Given the description of an element on the screen output the (x, y) to click on. 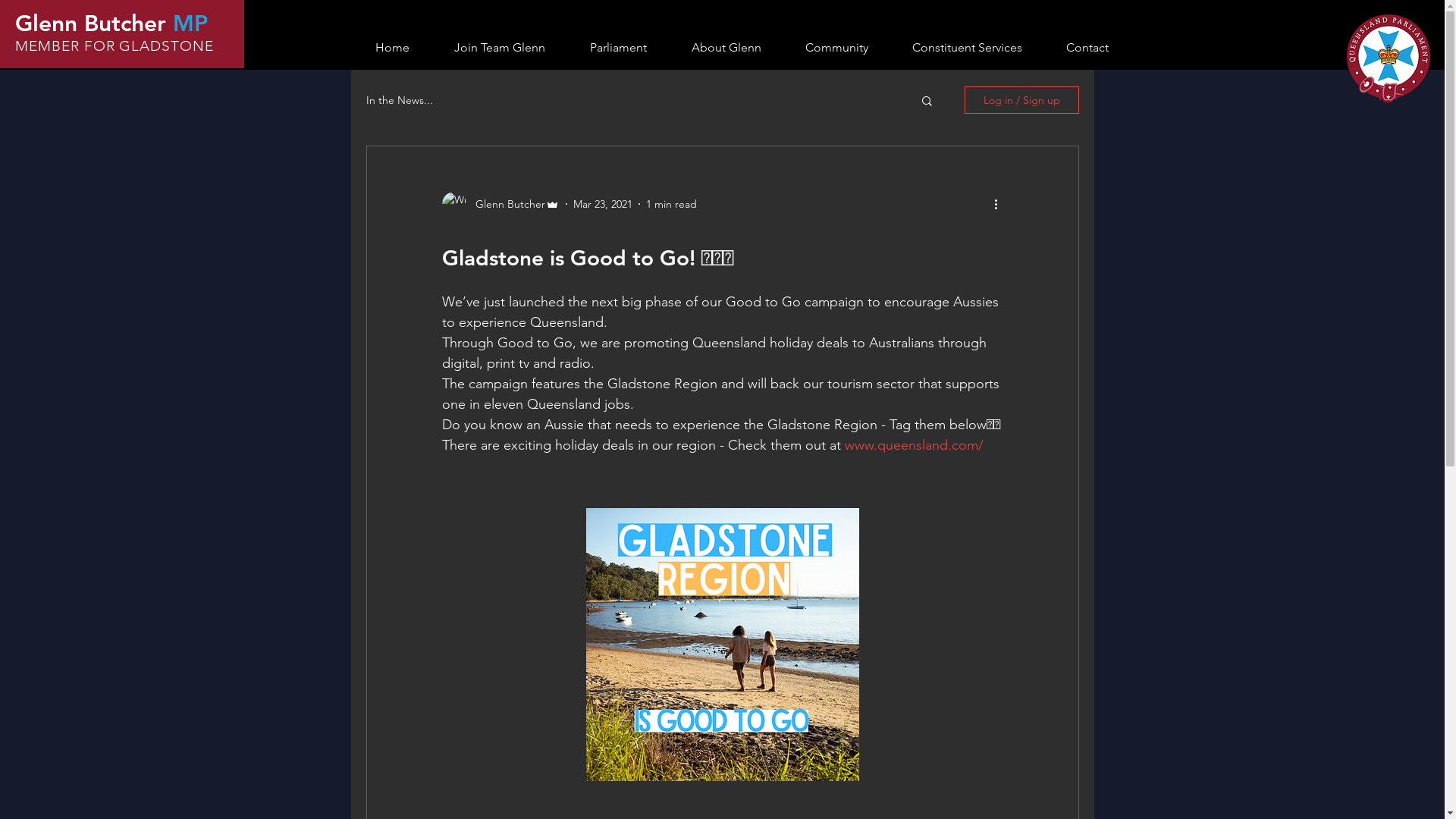
Contact Element type: text (1086, 47)
Constituent Services Element type: text (967, 47)
In the News... Element type: text (398, 99)
Community Element type: text (835, 47)
Log in / Sign up Element type: text (1021, 99)
About Glenn Element type: text (725, 47)
Join Team Glenn Element type: text (499, 47)
Glenn Butcher MP Element type: text (111, 23)
Home Element type: text (392, 47)
Parliament Element type: text (617, 47)
www.queensland.com/ Element type: text (913, 444)
